Given the description of an element on the screen output the (x, y) to click on. 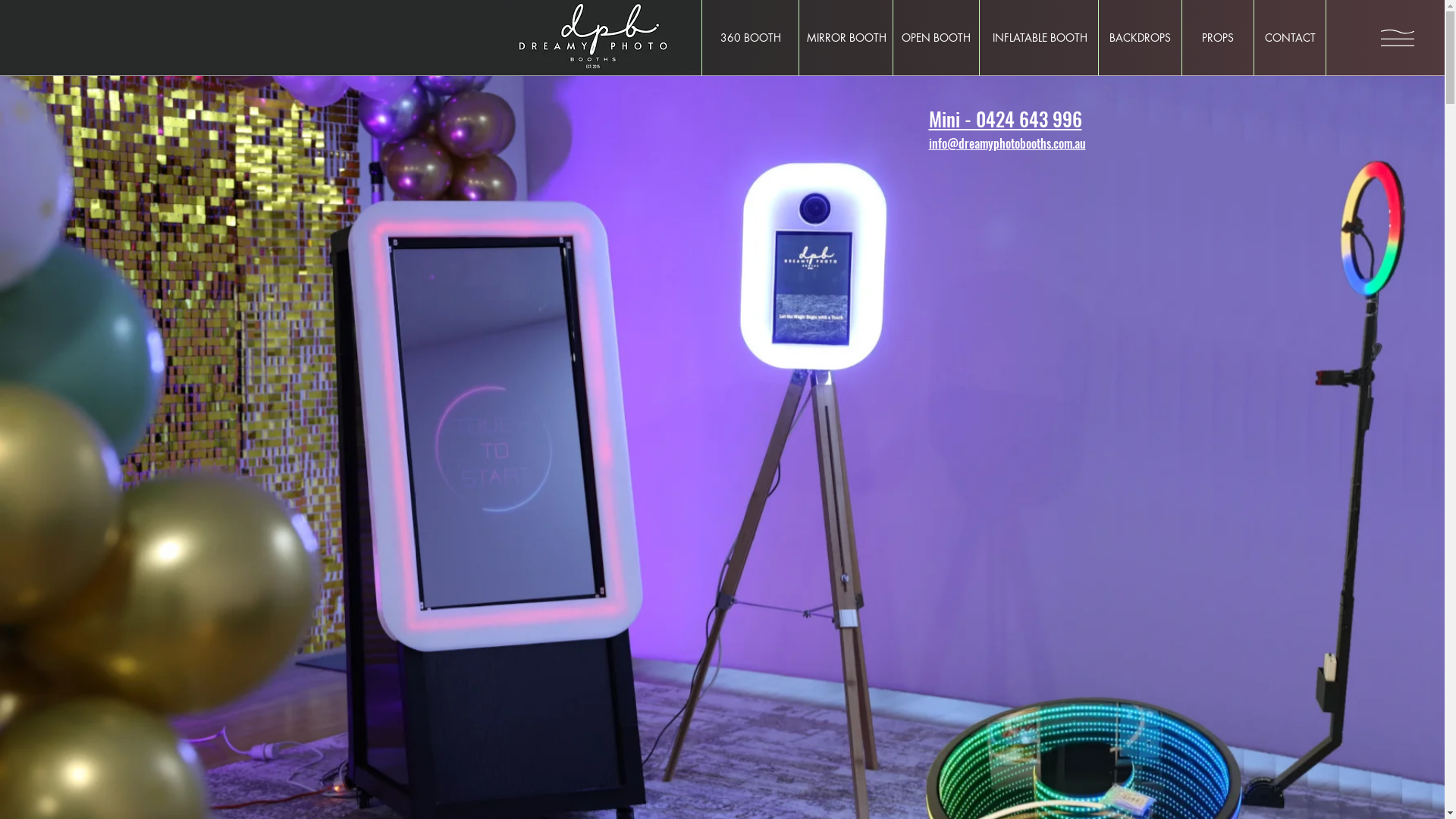
Dreamy Photo booths logo Element type: hover (598, 35)
BACKDROPS Element type: text (1139, 37)
360 BOOTH Element type: text (750, 37)
Mini - 0424 643 996 Element type: text (1004, 118)
info@dreamyphotobooths.com.au Element type: text (1006, 143)
PROPS Element type: text (1217, 37)
INFLATABLE BOOTH Element type: text (1039, 37)
MIRROR BOOTH Element type: text (846, 37)
CONTACT Element type: text (1289, 37)
OPEN BOOTH Element type: text (935, 37)
